Given the description of an element on the screen output the (x, y) to click on. 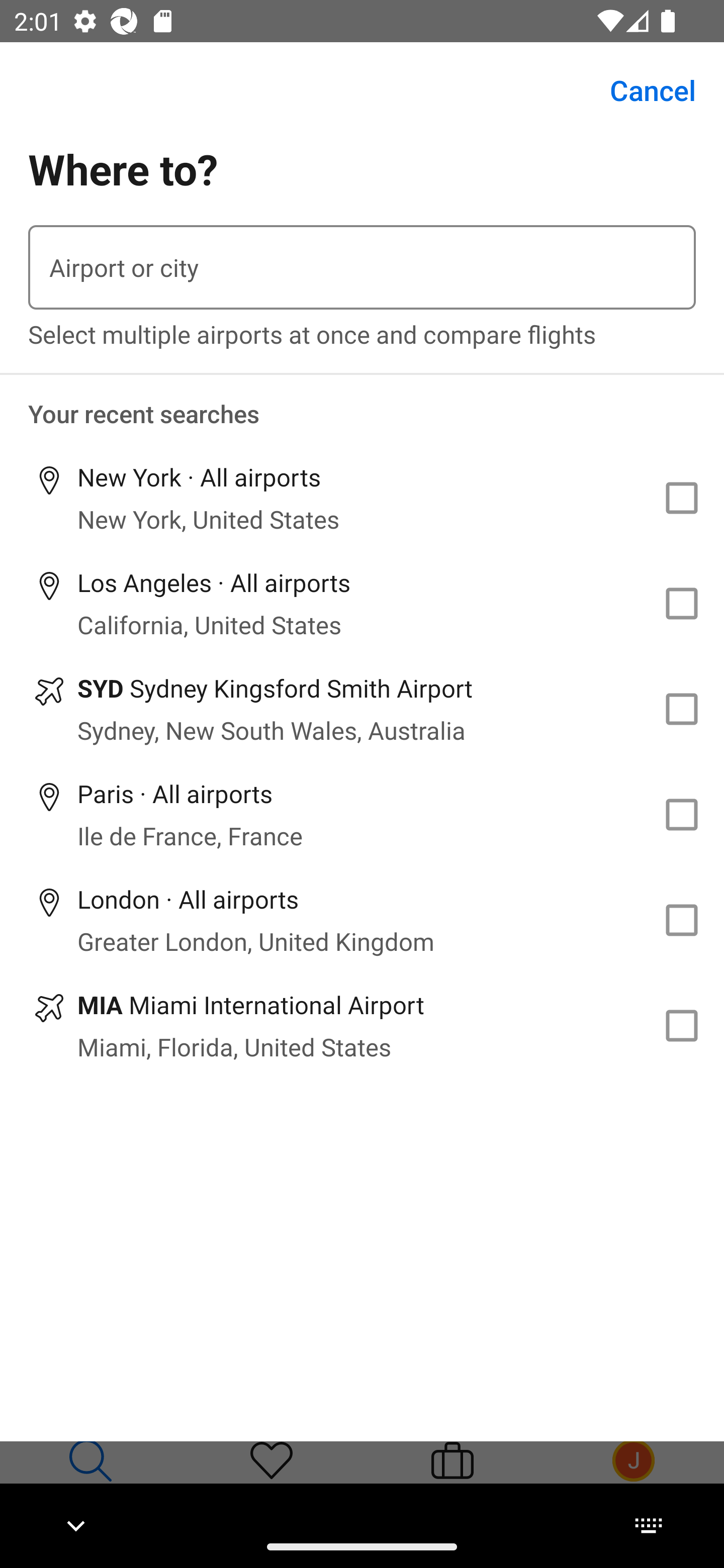
Cancel (641, 90)
Airport or city (361, 266)
New York · All airports New York, United States (362, 497)
Paris · All airports Ile de France, France (362, 814)
